Given the description of an element on the screen output the (x, y) to click on. 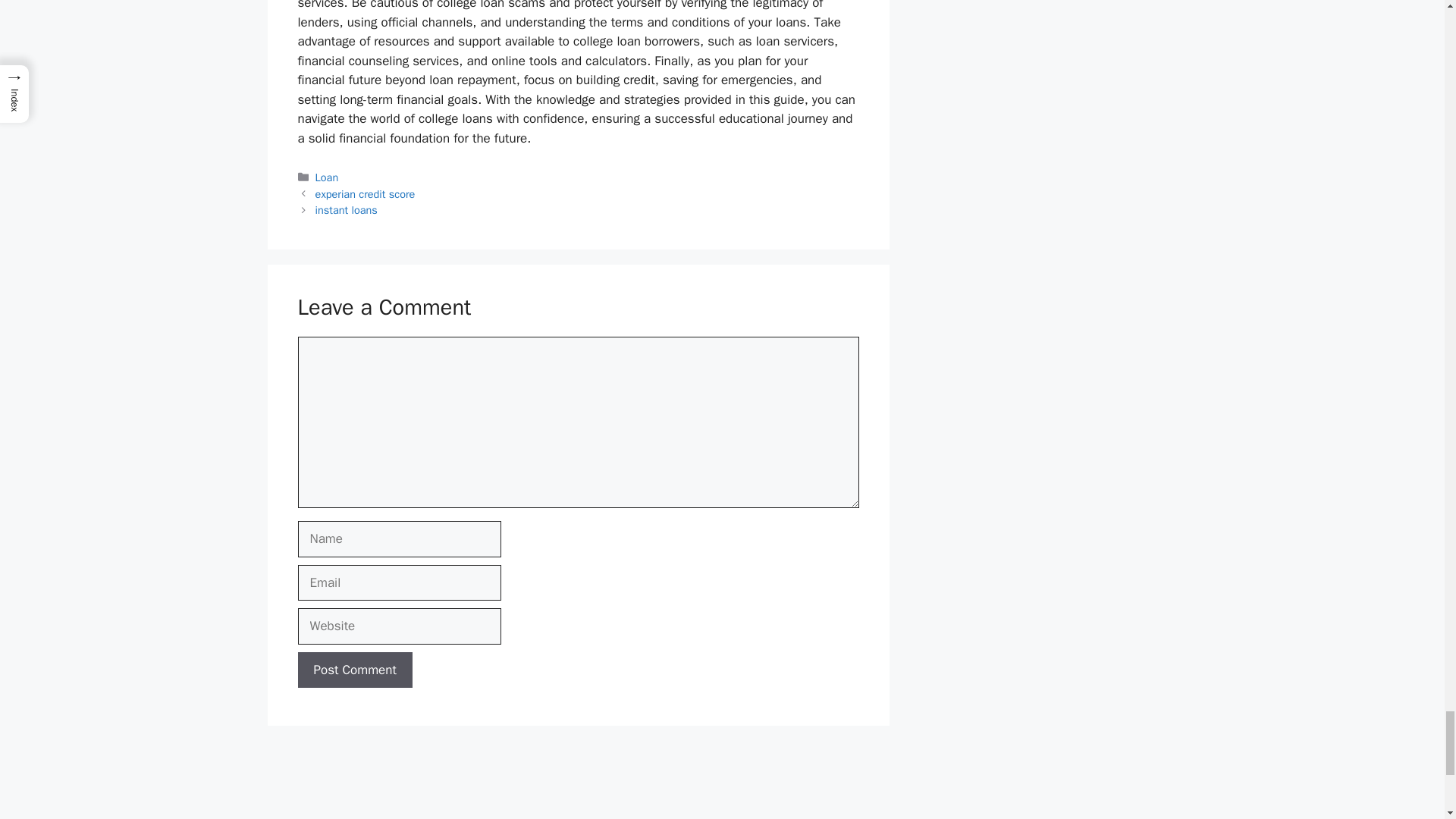
Post Comment (354, 669)
